Given the description of an element on the screen output the (x, y) to click on. 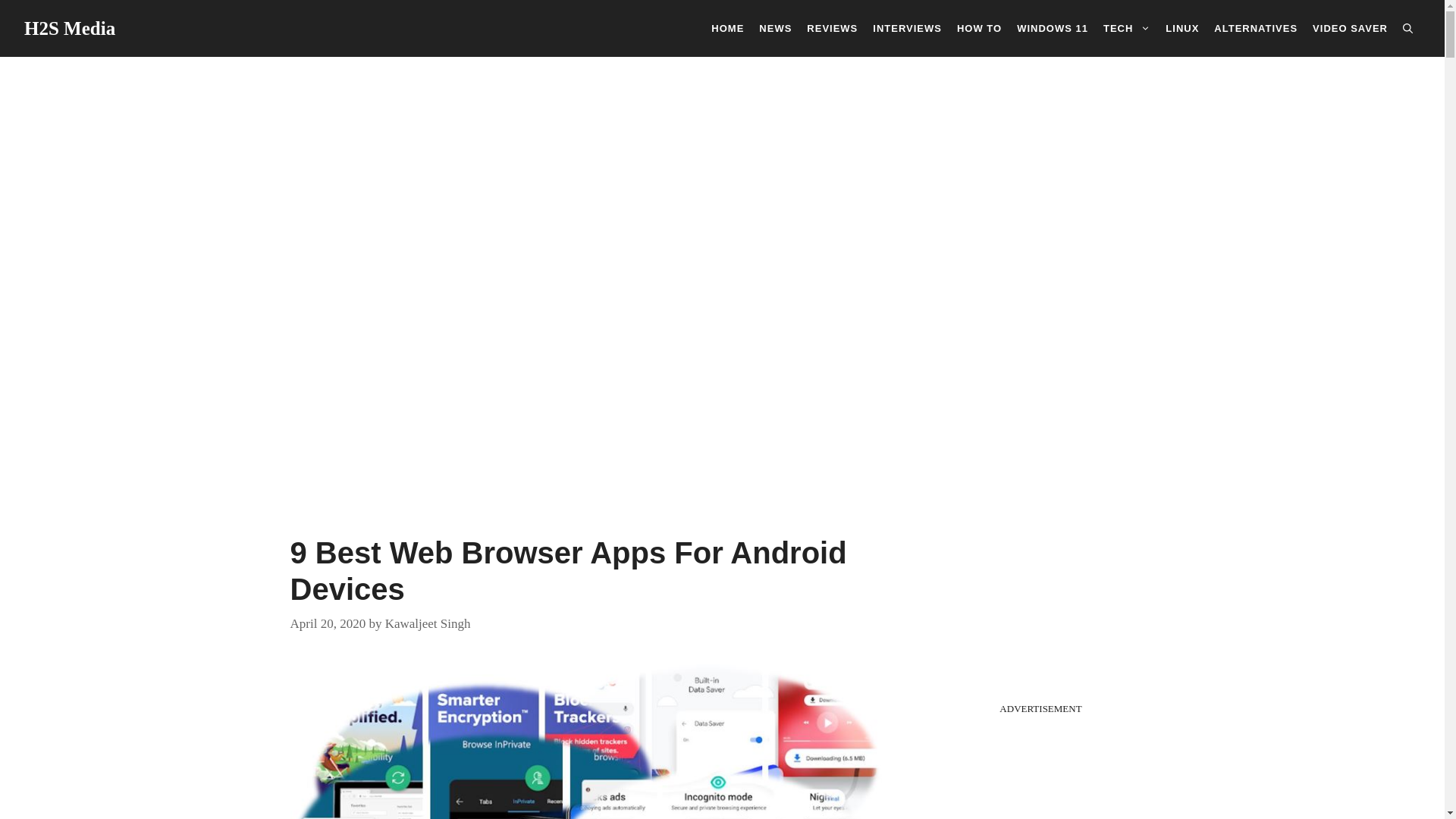
HOME (727, 27)
NEWS (775, 27)
H2S Media (69, 28)
VIDEO SAVER (1349, 27)
LINUX (1182, 27)
View all posts by Kawaljeet Singh (427, 622)
TECH (1126, 27)
INTERVIEWS (906, 27)
ALTERNATIVES (1255, 27)
